Given the description of an element on the screen output the (x, y) to click on. 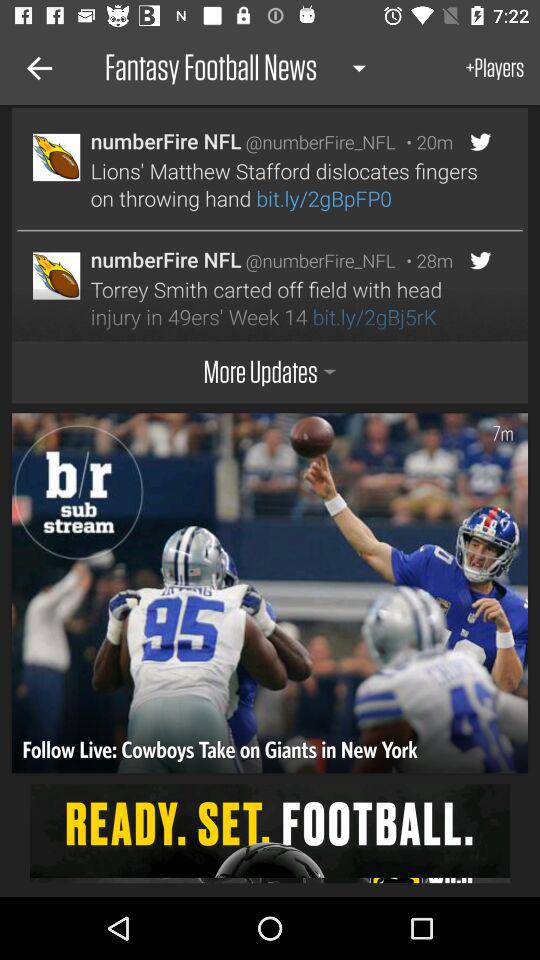
turn on the icon next to @numberfire_nfl item (423, 260)
